Given the description of an element on the screen output the (x, y) to click on. 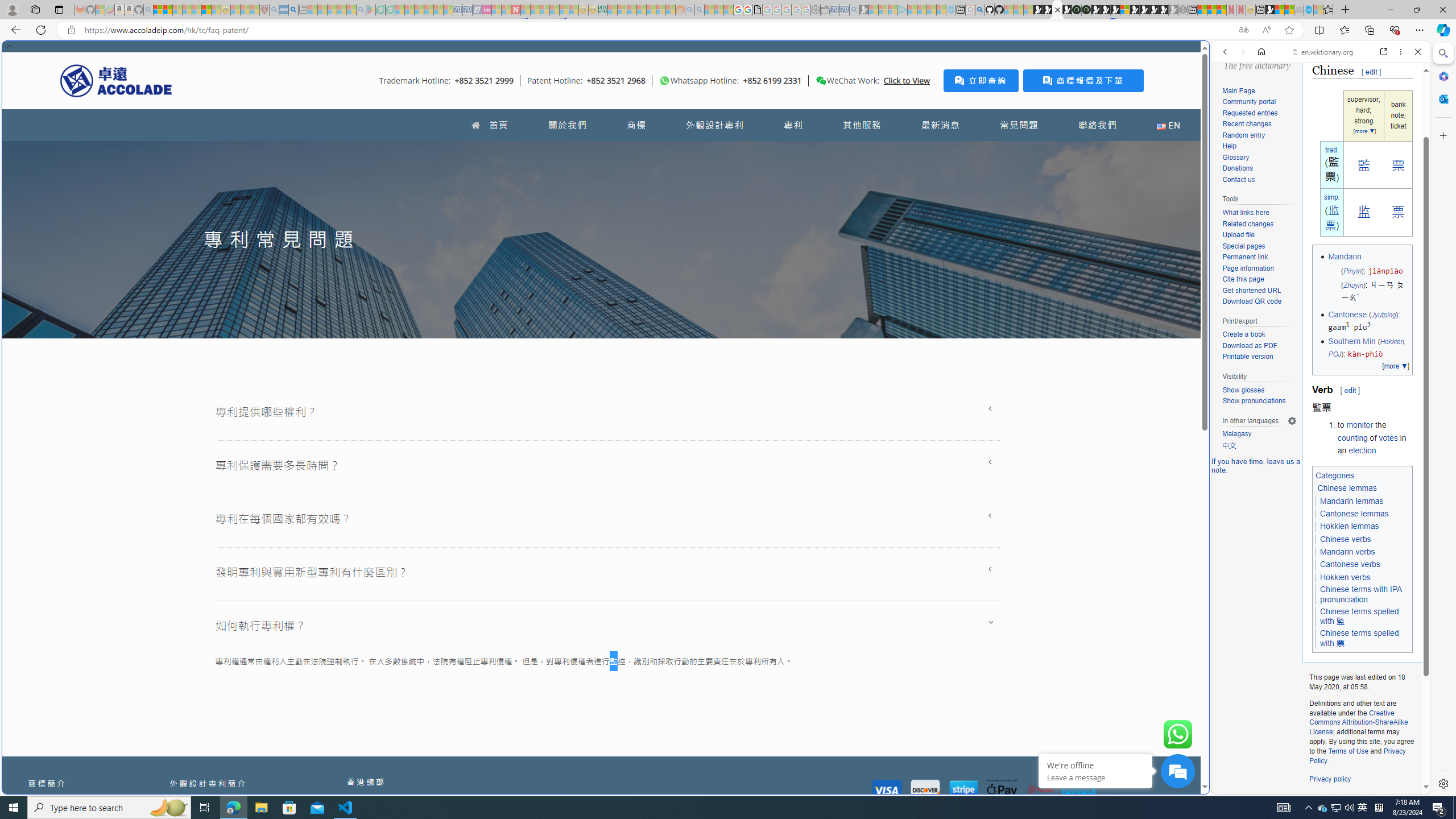
Permanent link (1244, 257)
Cantonese verbs (1350, 564)
Play Cave FRVR in your browser | Games from Microsoft Start (922, 242)
Glossary (1235, 157)
Search Filter, Search Tools (1350, 129)
Accolade IP HK Logo (116, 80)
